Given the description of an element on the screen output the (x, y) to click on. 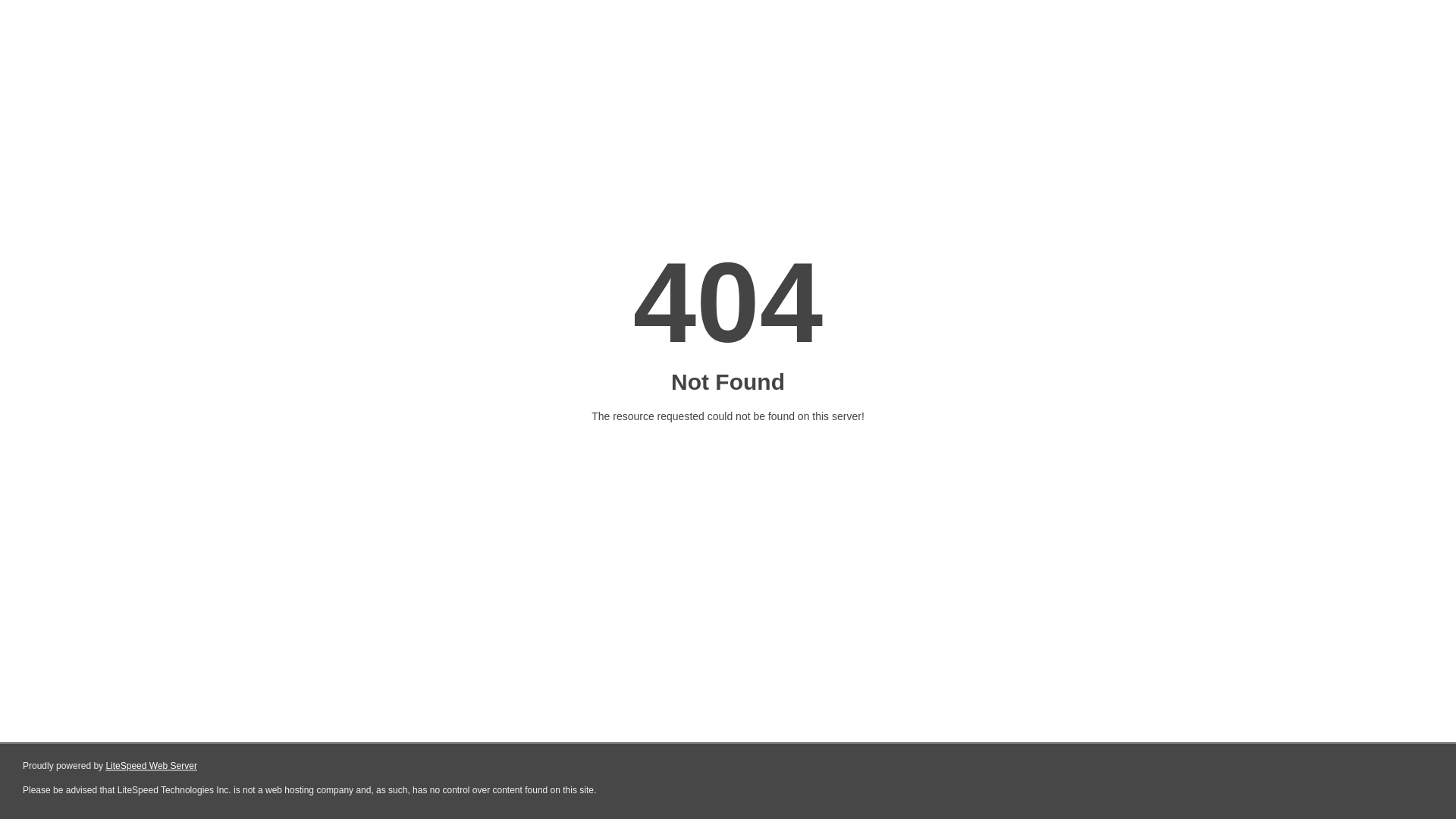
LiteSpeed Web Server Element type: text (151, 765)
